Given the description of an element on the screen output the (x, y) to click on. 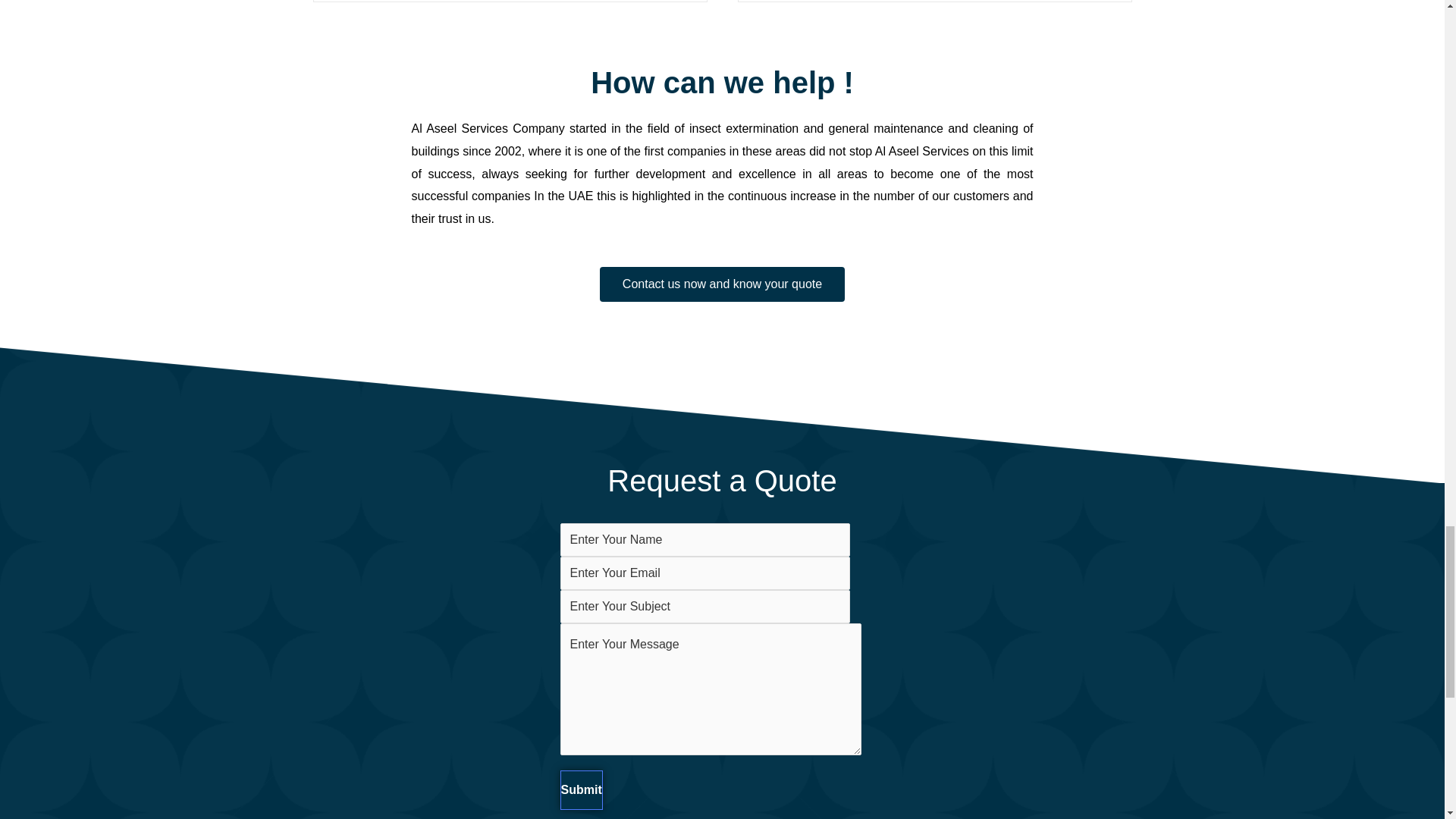
Submit (580, 789)
Contact us now and know your quote (721, 284)
Submit (580, 789)
